Given the description of an element on the screen output the (x, y) to click on. 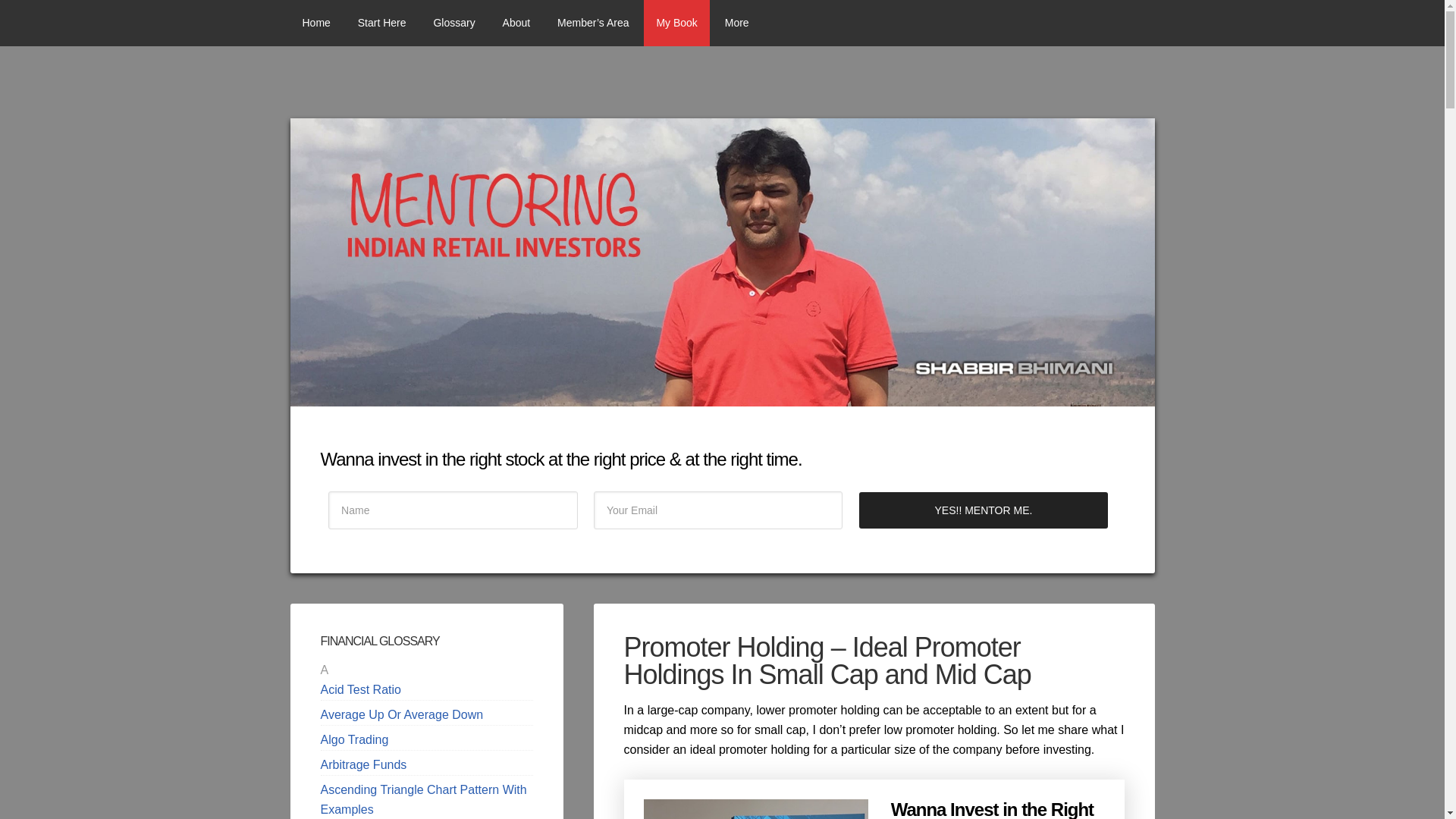
More (737, 22)
Name (453, 510)
About (516, 22)
Yes!! Mentor Me. (983, 510)
Glossary (453, 22)
Home (315, 22)
SHABBIR BHIMANI (1058, 22)
Your Email (718, 510)
Start Here (382, 22)
Yes!! Mentor Me. (983, 510)
Right Stock at Right Price for Right Time (676, 22)
My Book (676, 22)
